Given the description of an element on the screen output the (x, y) to click on. 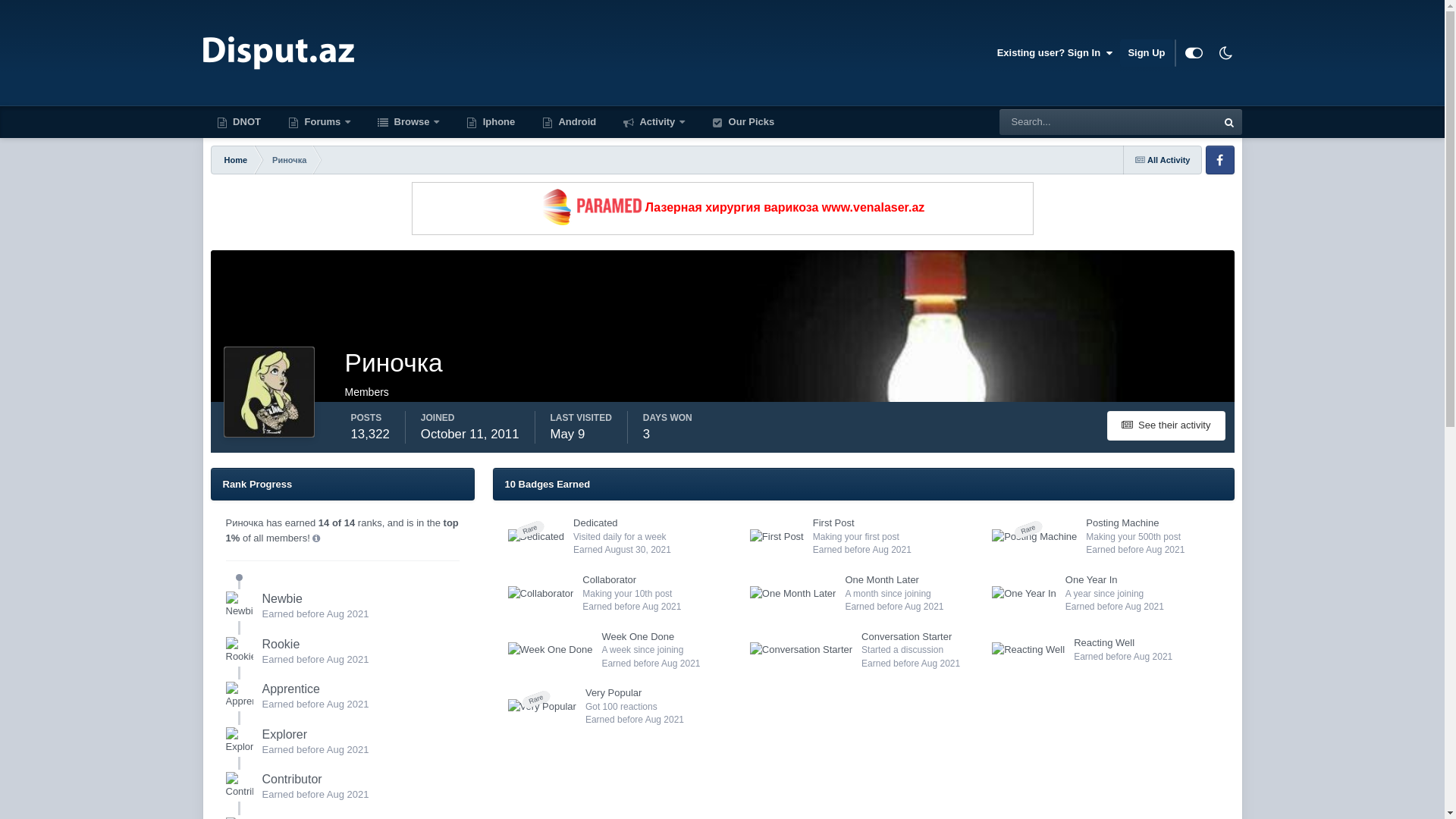
All Activity Element type: text (1162, 159)
Forums Element type: text (319, 122)
Browse Element type: text (408, 122)
Facebook Element type: text (1219, 159)
Rank: Explorer (4/14) Element type: hover (239, 740)
Dark Mode Element type: hover (1226, 52)
Customizer Element type: hover (1192, 52)
Existing user? Sign In   Element type: text (1054, 52)
Iphone Element type: text (490, 122)
DNOT Element type: text (238, 122)
Rank: Rookie (2/14) Element type: hover (239, 650)
Our Picks Element type: text (742, 122)
Android Element type: text (568, 122)
Rank: Newbie (1/14) Element type: hover (239, 604)
 See their activity Element type: text (1166, 425)
Activity Element type: text (653, 122)
Sign Up Element type: text (1146, 52)
Rank: Contributor (5/14) Element type: hover (239, 785)
Rank: Apprentice (3/14) Element type: hover (239, 695)
Home Element type: text (234, 159)
